Given the description of an element on the screen output the (x, y) to click on. 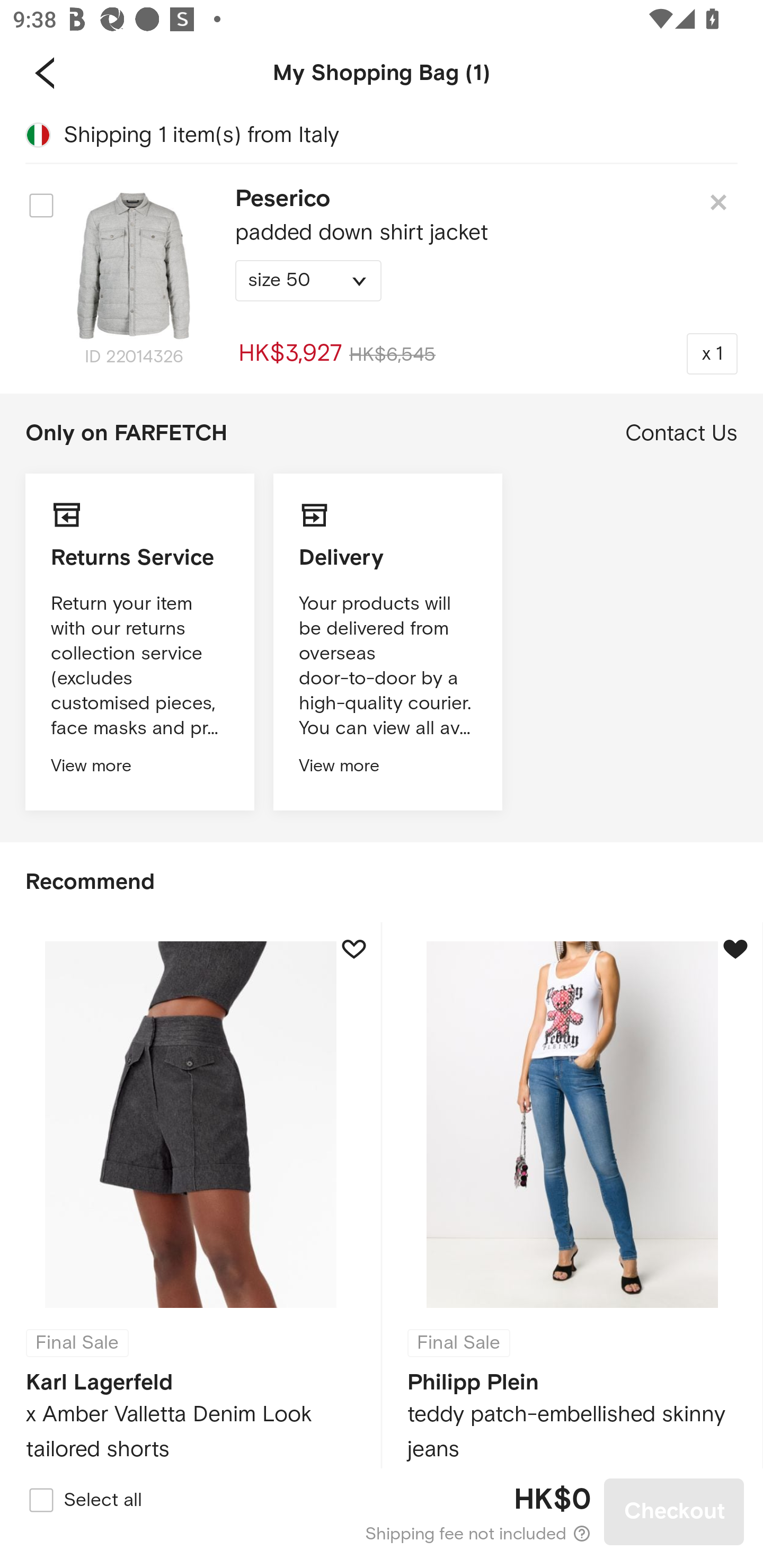
size 50 (308, 280)
x 1 (711, 353)
Contact Us (680, 433)
HK$0 Shipping fee not included (382, 1512)
Checkout (673, 1511)
